Given the description of an element on the screen output the (x, y) to click on. 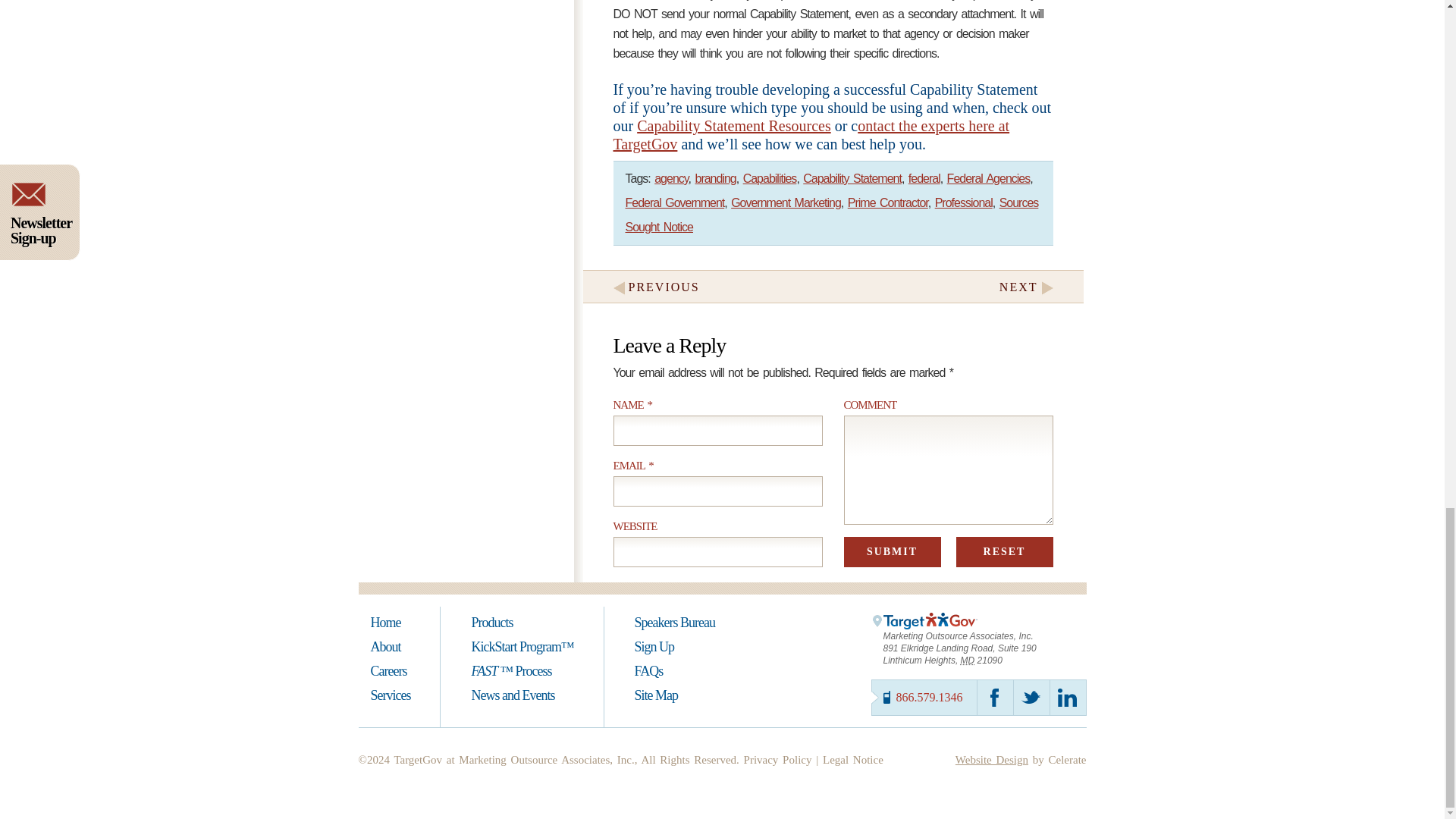
agency (670, 178)
NEXT (1027, 286)
federal (924, 178)
branding (714, 178)
PREVIOUS (654, 286)
Submit (891, 552)
ontact the experts here at TargetGov (810, 134)
Sources Sought Notice (831, 214)
Prime Contractor (887, 202)
Capabilities (769, 178)
Federal Government (673, 202)
Government Marketing (785, 202)
Submit (891, 552)
Capability Statement (852, 178)
Capability Statement Resources (734, 125)
